Given the description of an element on the screen output the (x, y) to click on. 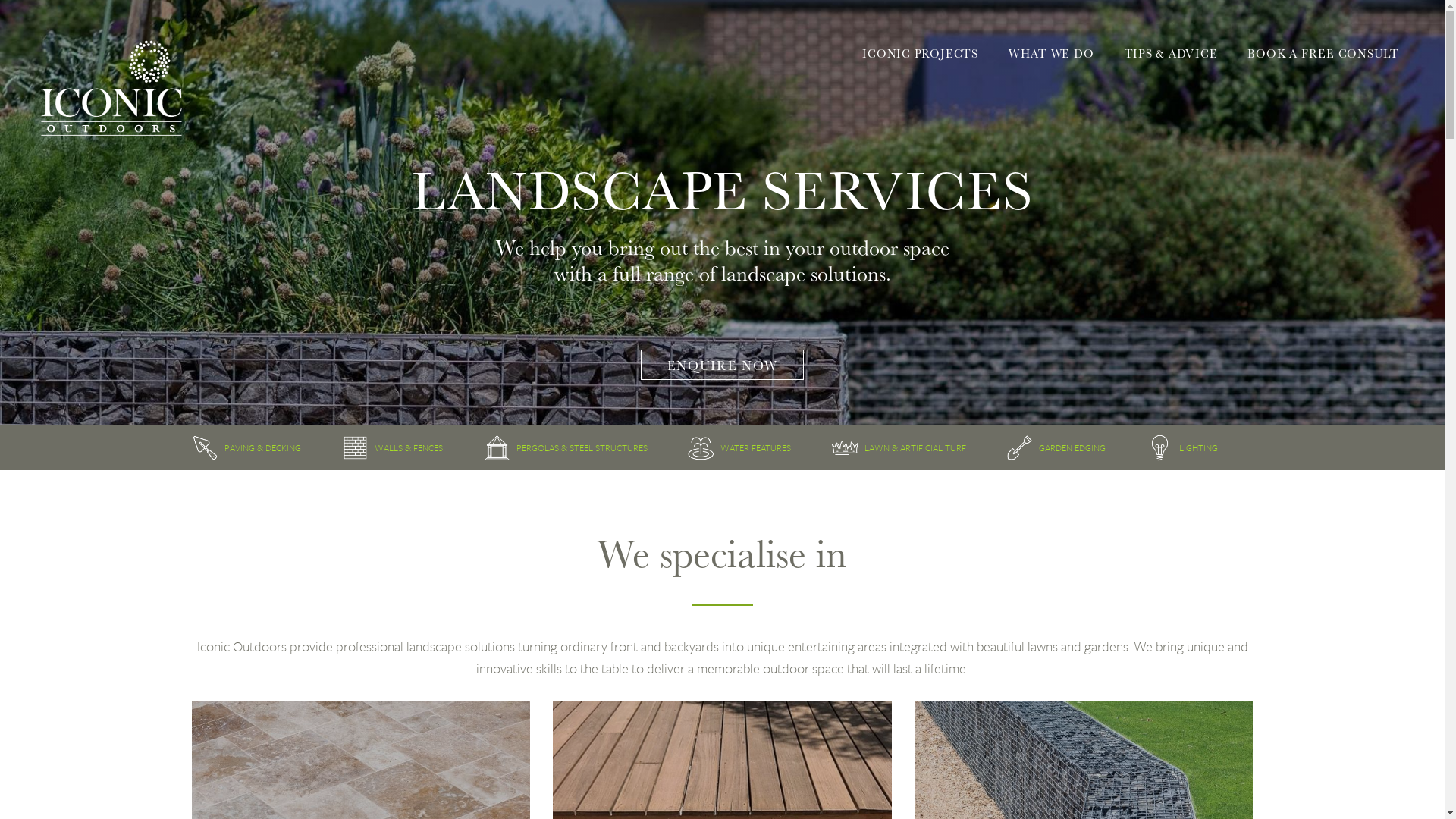
ENQUIRE NOW Element type: text (722, 364)
LAWN & Element type: text (880, 447)
BOOK A FREE CONSULT Element type: text (1323, 52)
ARTIFICIAL TURF Element type: text (933, 447)
WATER FEATURES Element type: text (755, 447)
WALLS & Element type: text (392, 447)
DECKING Element type: text (283, 447)
WHAT WE DO Element type: text (1051, 52)
PERGOLAS & STEEL STRUCTURES Element type: text (581, 447)
TIPS & ADVICE Element type: text (1170, 52)
PAVING & Element type: text (243, 447)
GARDEN EDGING Element type: text (1071, 447)
FENCES Element type: text (427, 447)
ICONIC PROJECTS Element type: text (919, 52)
LIGHTING Element type: text (1198, 447)
